Given the description of an element on the screen output the (x, y) to click on. 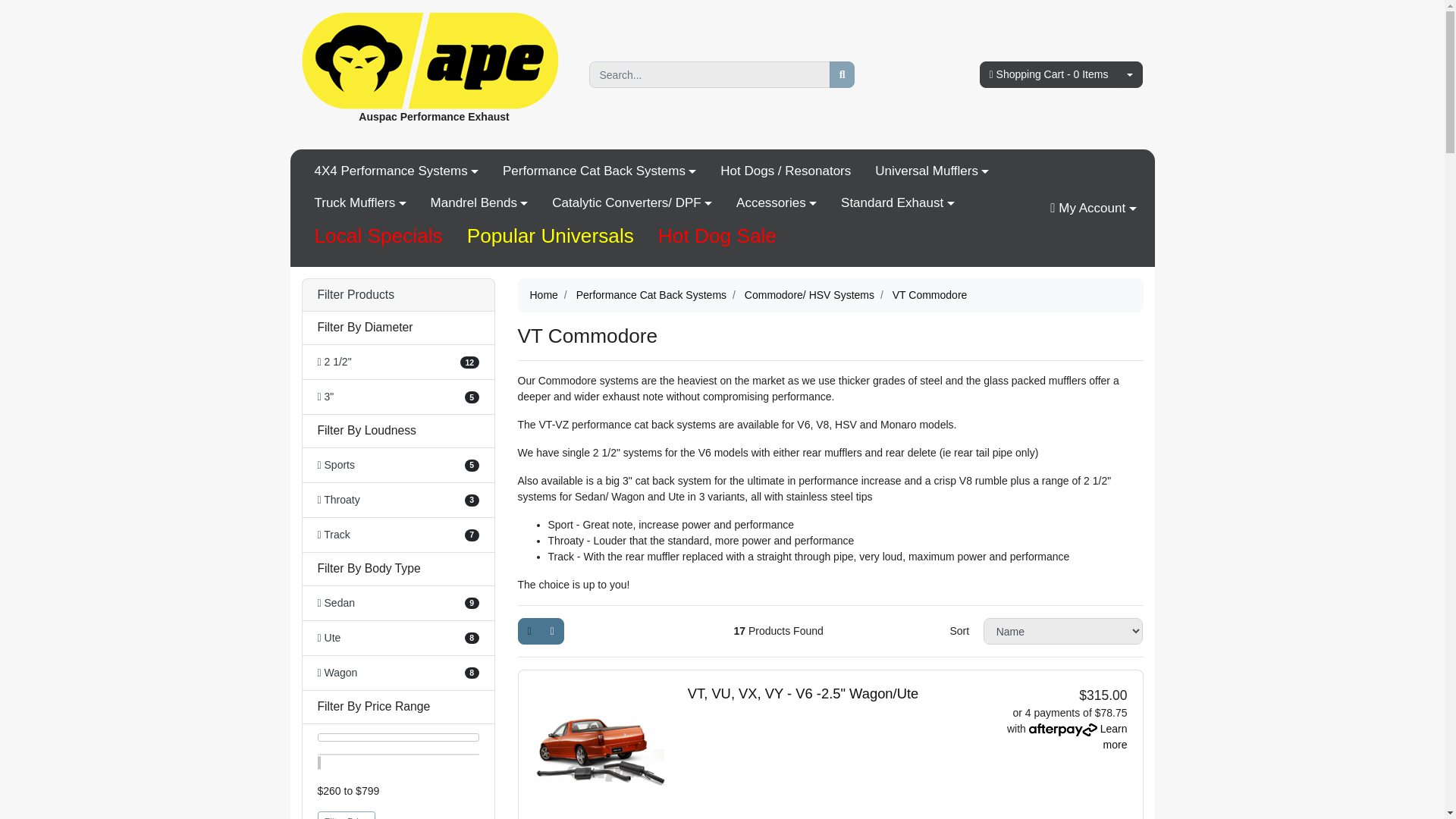
Shopping Cart - 0 Items (1048, 74)
Filter Price (345, 815)
Performance Cat Back Systems (598, 171)
4X4 Performance Systems (395, 171)
Universal Mufflers (932, 171)
Auspac Exhaust (430, 60)
Search (842, 74)
